Given the description of an element on the screen output the (x, y) to click on. 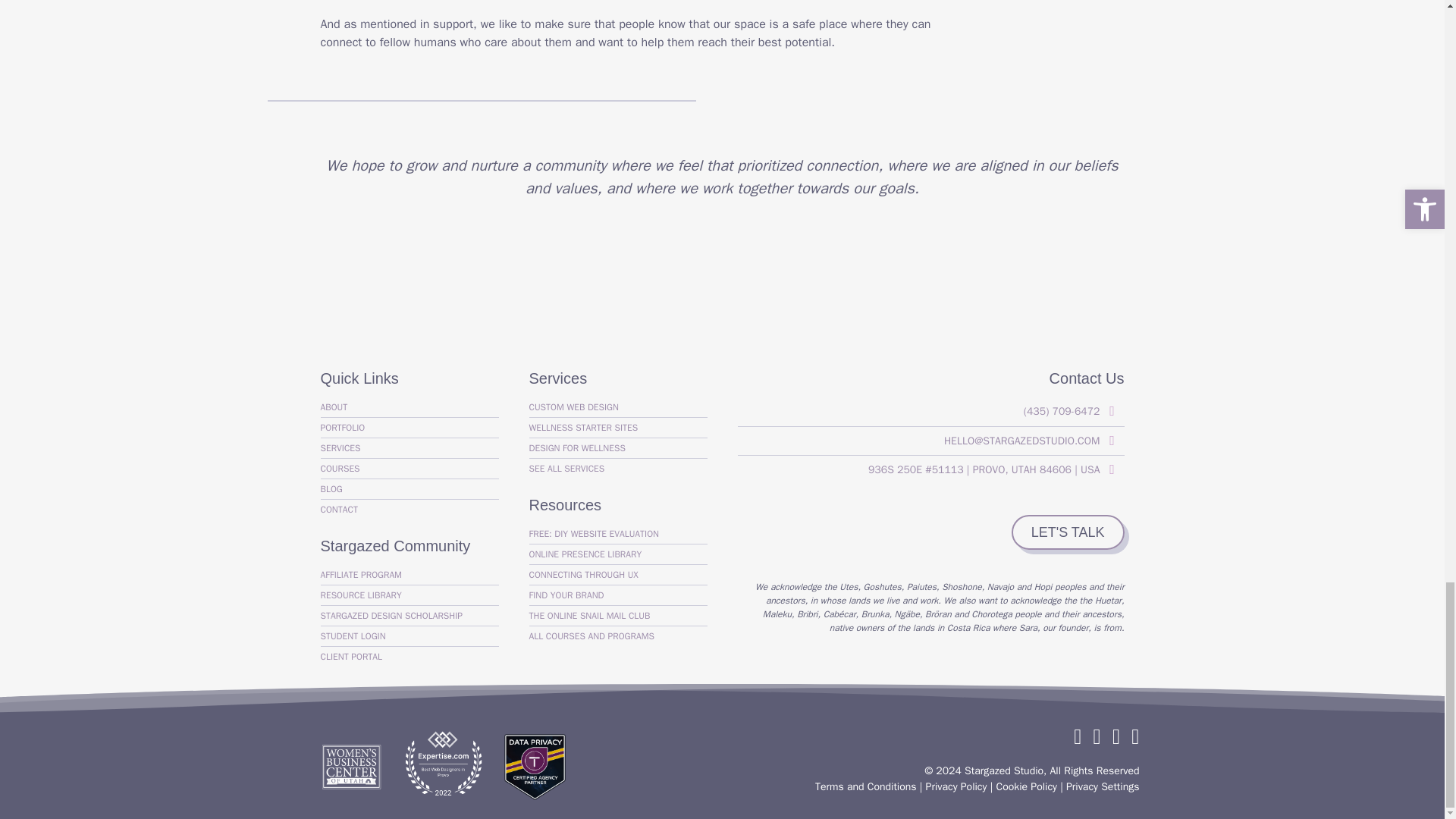
SERVICES (408, 447)
ALL COURSES AND PROGRAMS (618, 636)
THE ONLINE SNAIL MAIL CLUB (618, 615)
PORTFOLIO (408, 427)
CONTACT (408, 509)
ABOUT (408, 406)
COURSES (408, 468)
Women's Business Center of Utah (350, 766)
STUDENT LOGIN (408, 636)
RESOURCE LIBRARY (408, 595)
